Given the description of an element on the screen output the (x, y) to click on. 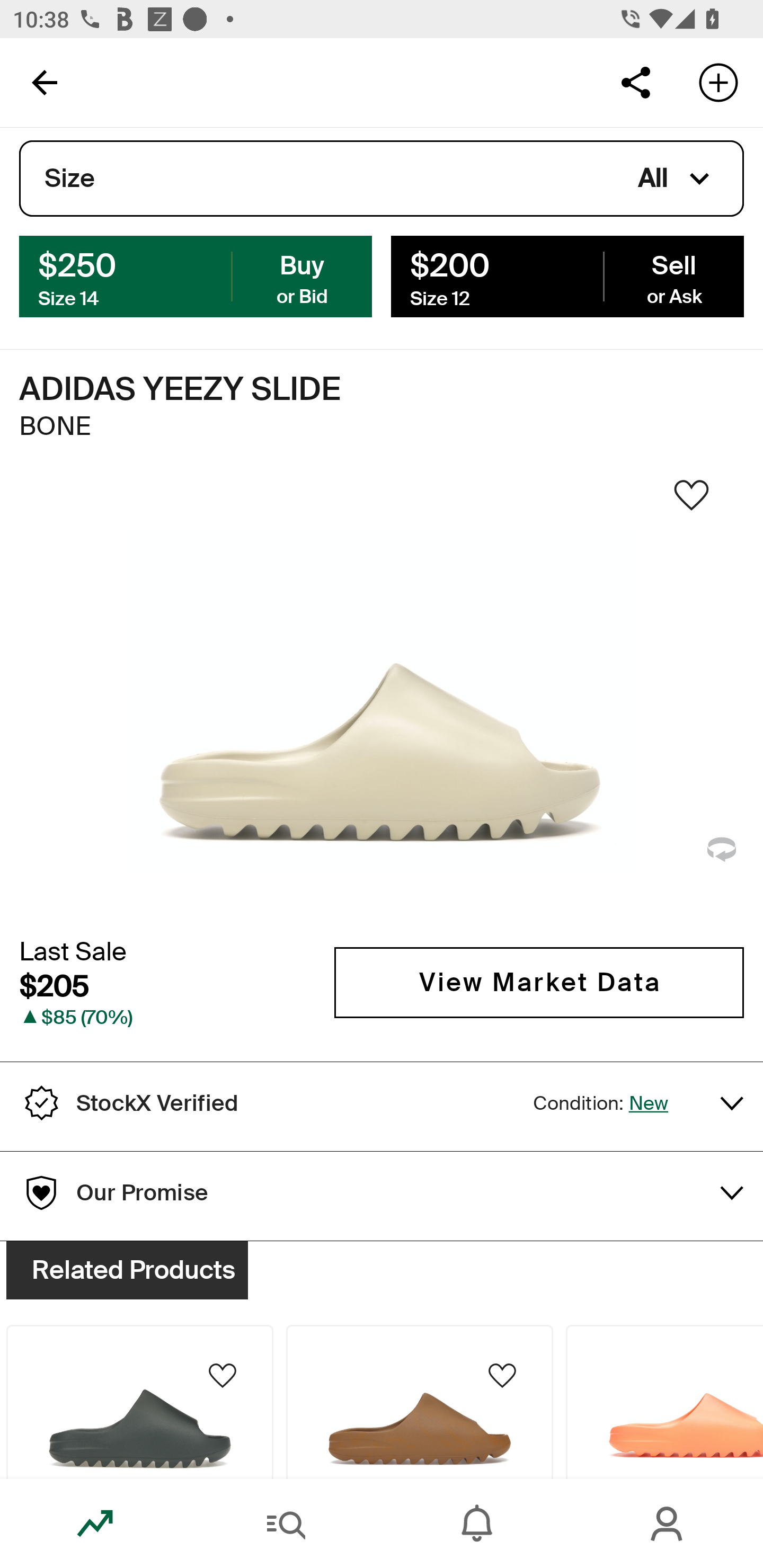
Share (635, 81)
Add (718, 81)
Size All (381, 178)
$82 Buy Size 4 or Bid (195, 275)
$122 Sell Size 15 or Ask (566, 275)
Sneaker Image (381, 699)
View Market Data (538, 982)
View Market Data (538, 1077)
Product Image Jordan 11 Retro DMP Gratitude (2023) (139, 1349)
Product Image (139, 1401)
Product Image (419, 1401)
Product Image (664, 1401)
Search (285, 1523)
Inbox (476, 1523)
Account (667, 1523)
